Given the description of an element on the screen output the (x, y) to click on. 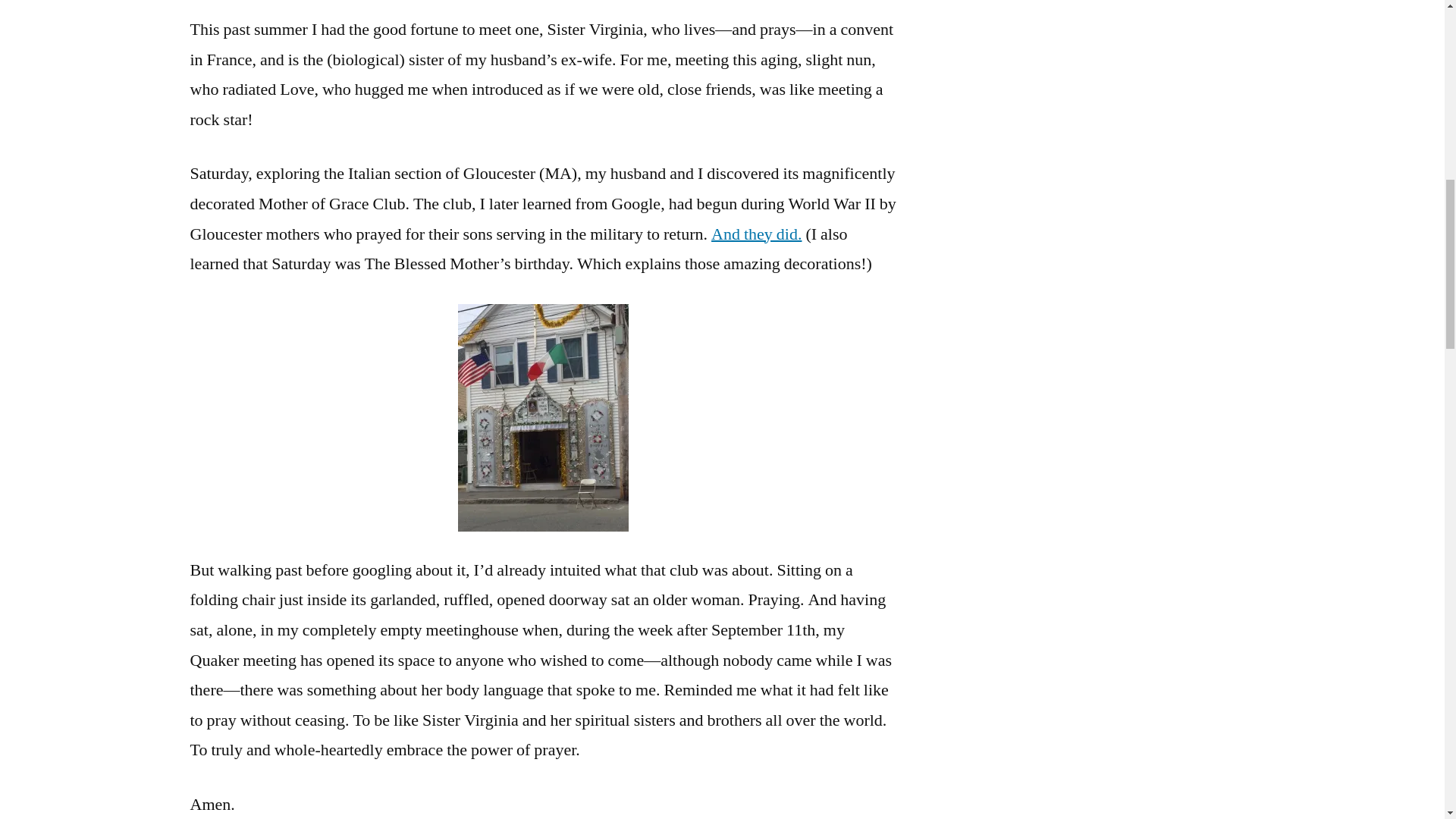
And they did. (756, 233)
